Given the description of an element on the screen output the (x, y) to click on. 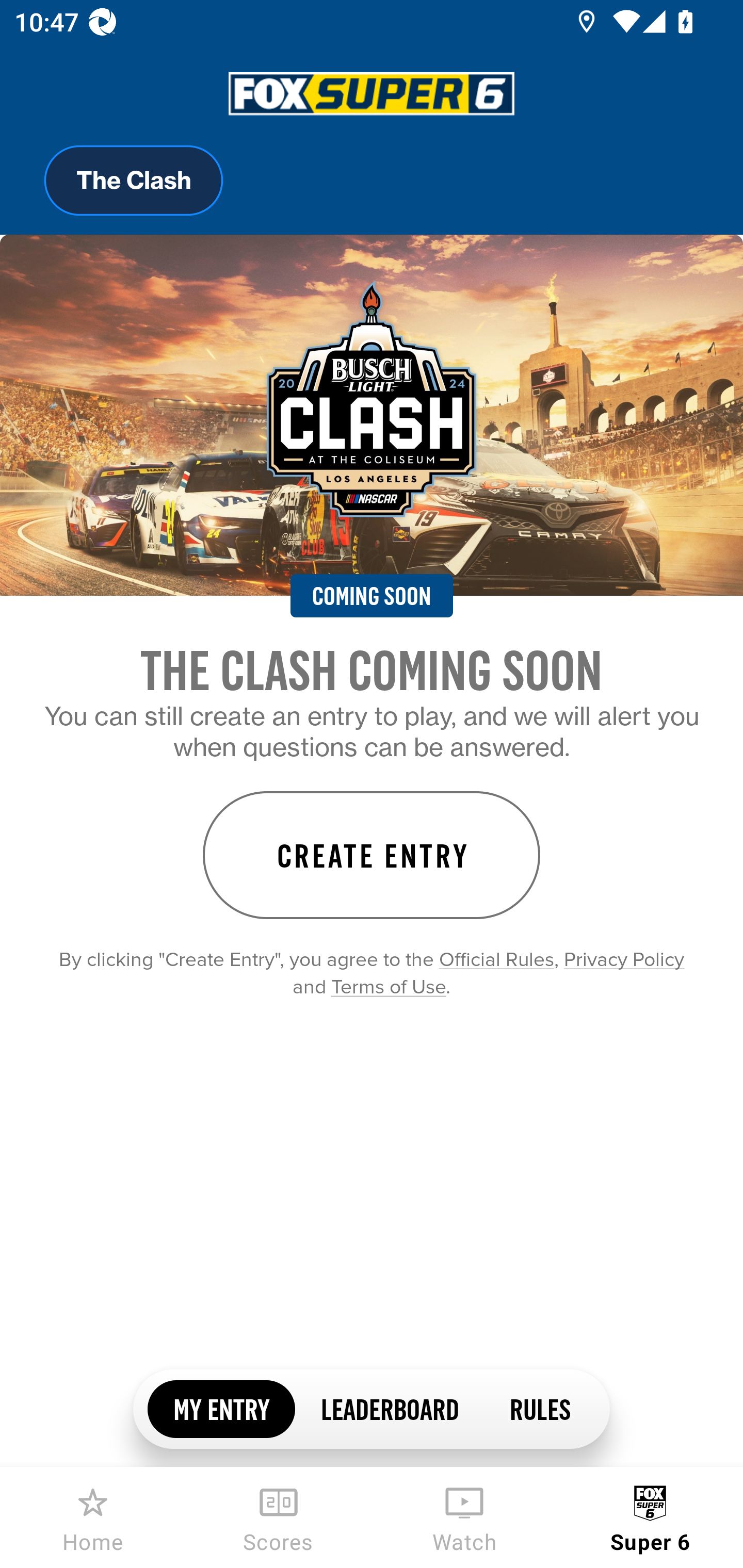
CREATE ENTRY (371, 854)
LEADERBOARD (388, 1408)
RULES (539, 1408)
Home (92, 1517)
Scores (278, 1517)
Watch (464, 1517)
